Given the description of an element on the screen output the (x, y) to click on. 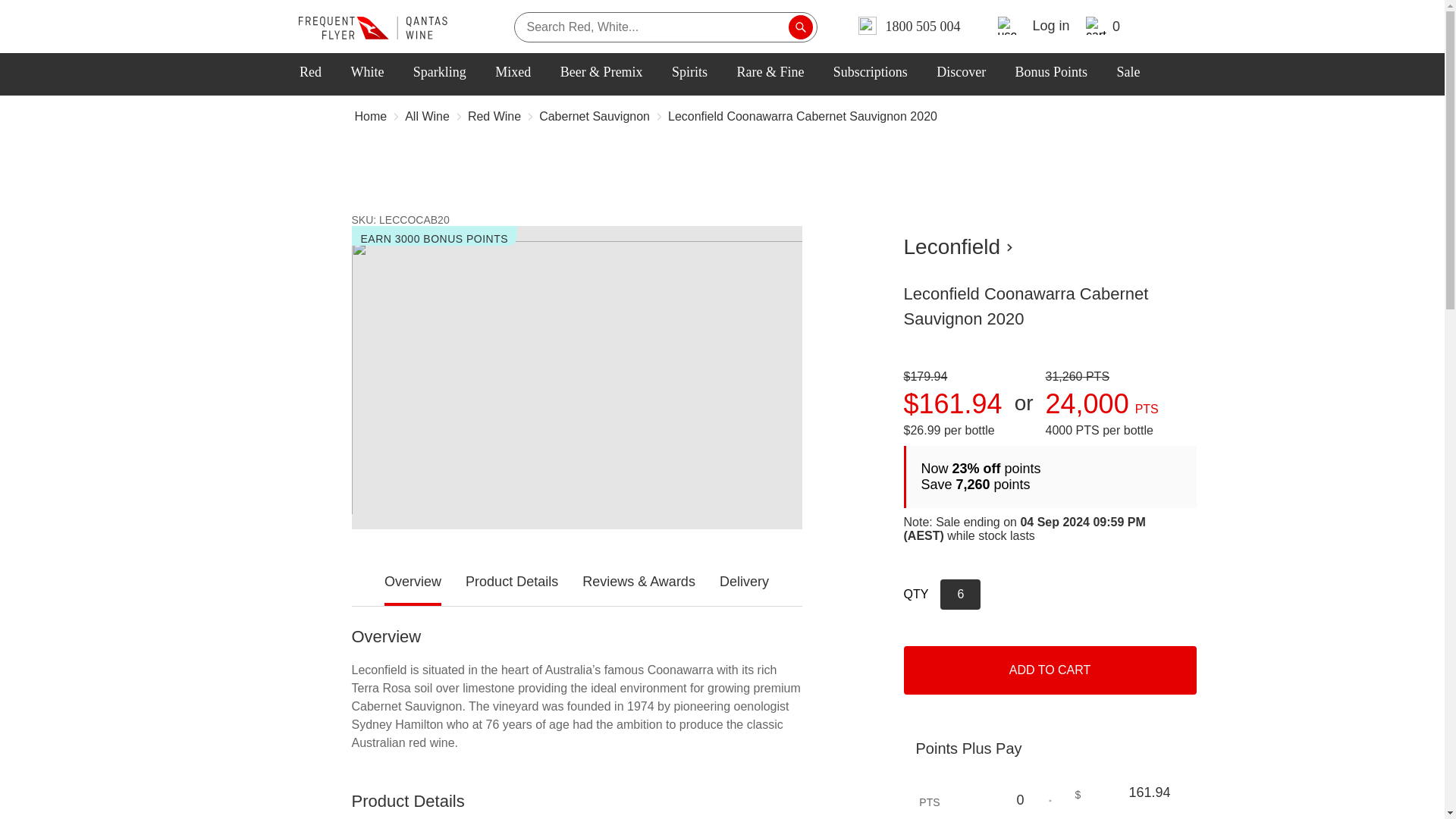
Subscriptions (872, 71)
All Wine (426, 118)
Delivery (743, 582)
Cabernet Sauvignon (593, 118)
Red Wine (494, 118)
Red (311, 71)
Product Details (511, 582)
161.94 (1122, 793)
ADD TO CART (1050, 670)
Mixed (515, 71)
Spirits (691, 71)
Home (371, 118)
Leconfield Coonawarra Cabernet Sauvignon 2020 (802, 118)
0 (975, 800)
1800 505 004 (910, 25)
